Given the description of an element on the screen output the (x, y) to click on. 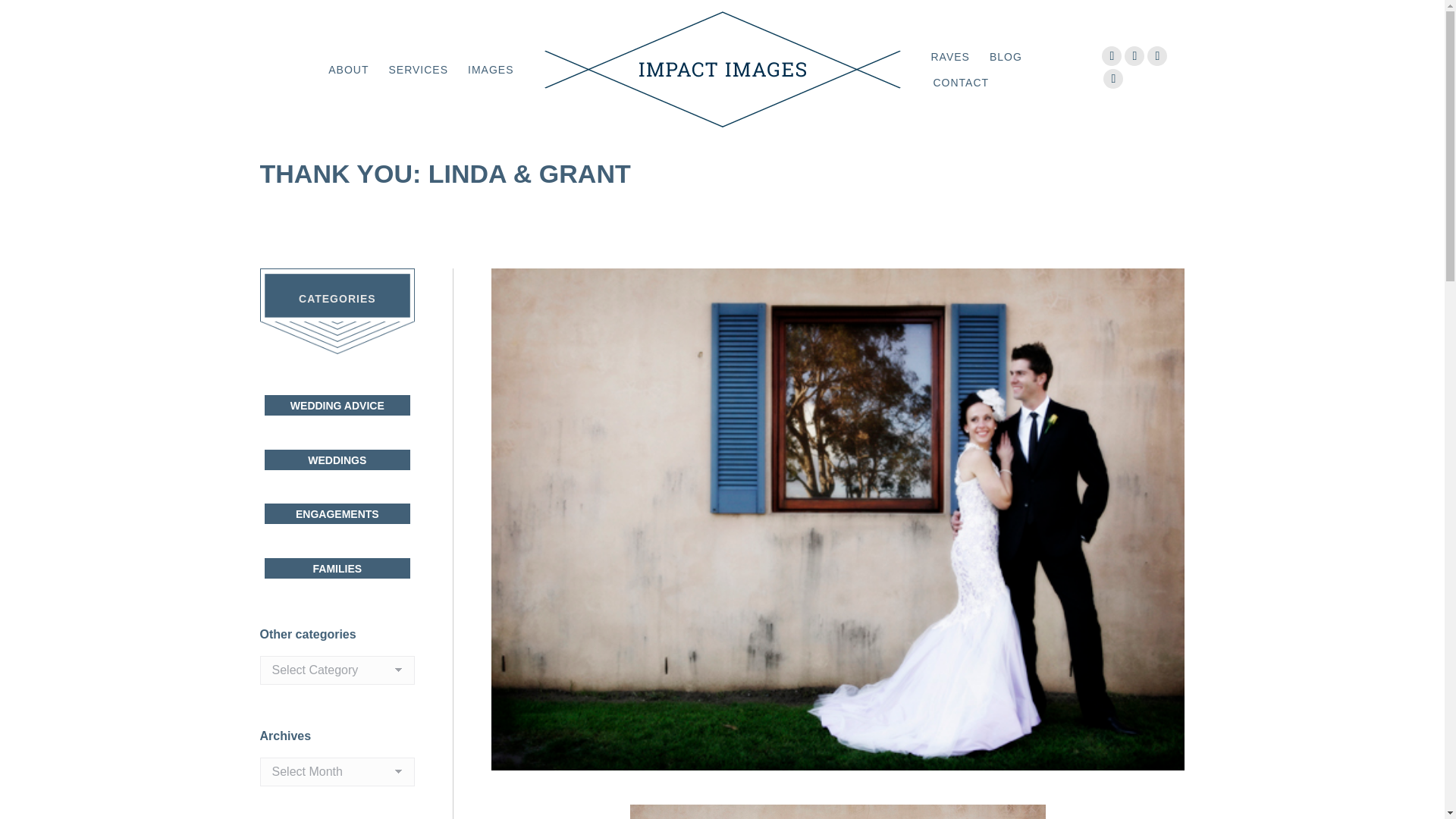
Facebook page opens in new window (1111, 55)
BLOG (1005, 56)
Instagram page opens in new window (1157, 55)
Mail page opens in new window (1112, 78)
Facebook page opens in new window (1111, 55)
Mail page opens in new window (1112, 78)
Instagram page opens in new window (1157, 55)
Pinterest page opens in new window (1134, 55)
SERVICES (417, 69)
ABOUT (347, 69)
RAVES (949, 56)
IMAGES (490, 69)
CONTACT (959, 82)
Pinterest page opens in new window (1134, 55)
